Given the description of an element on the screen output the (x, y) to click on. 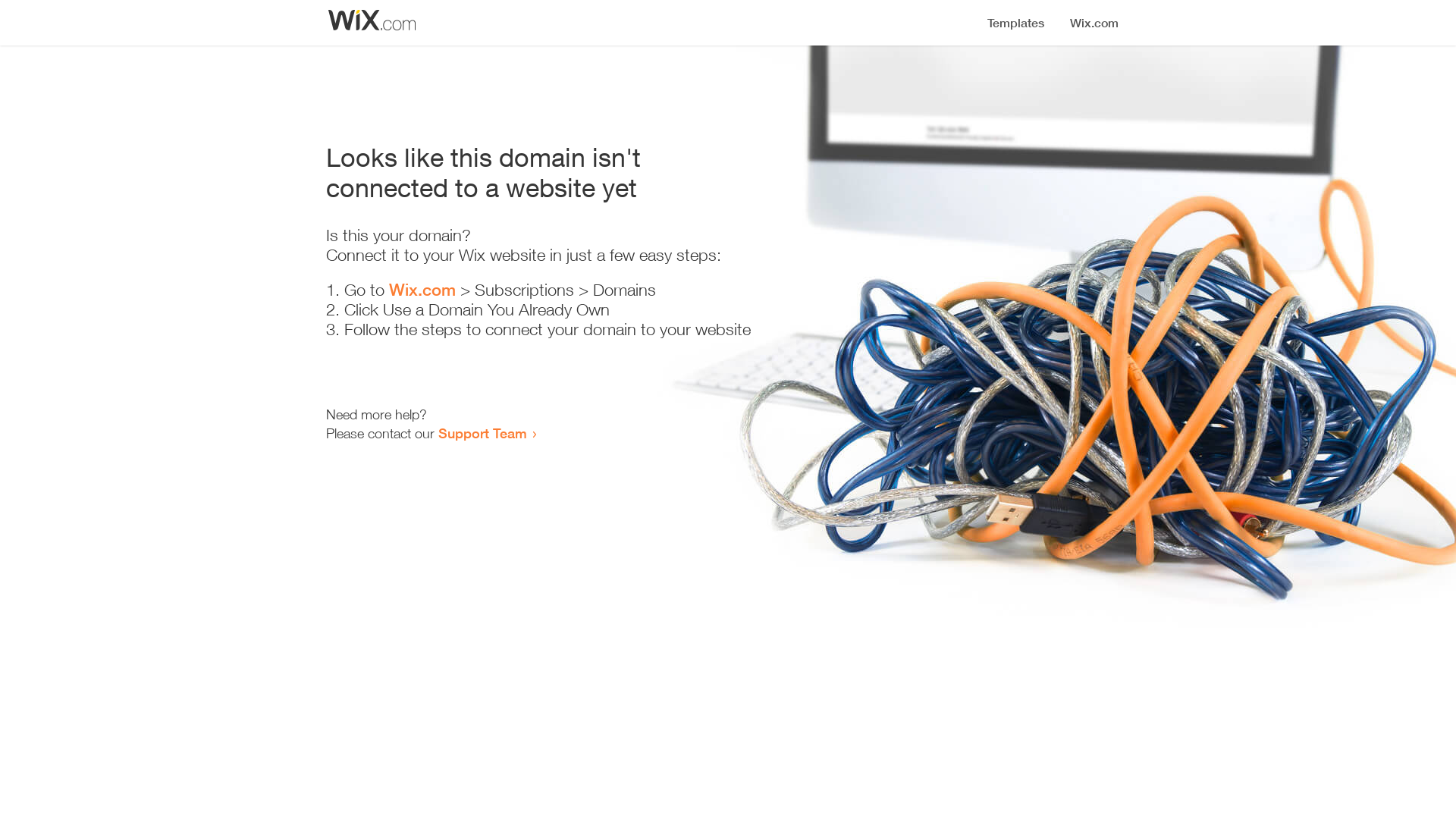
Wix.com Element type: text (422, 289)
Support Team Element type: text (482, 432)
